Given the description of an element on the screen output the (x, y) to click on. 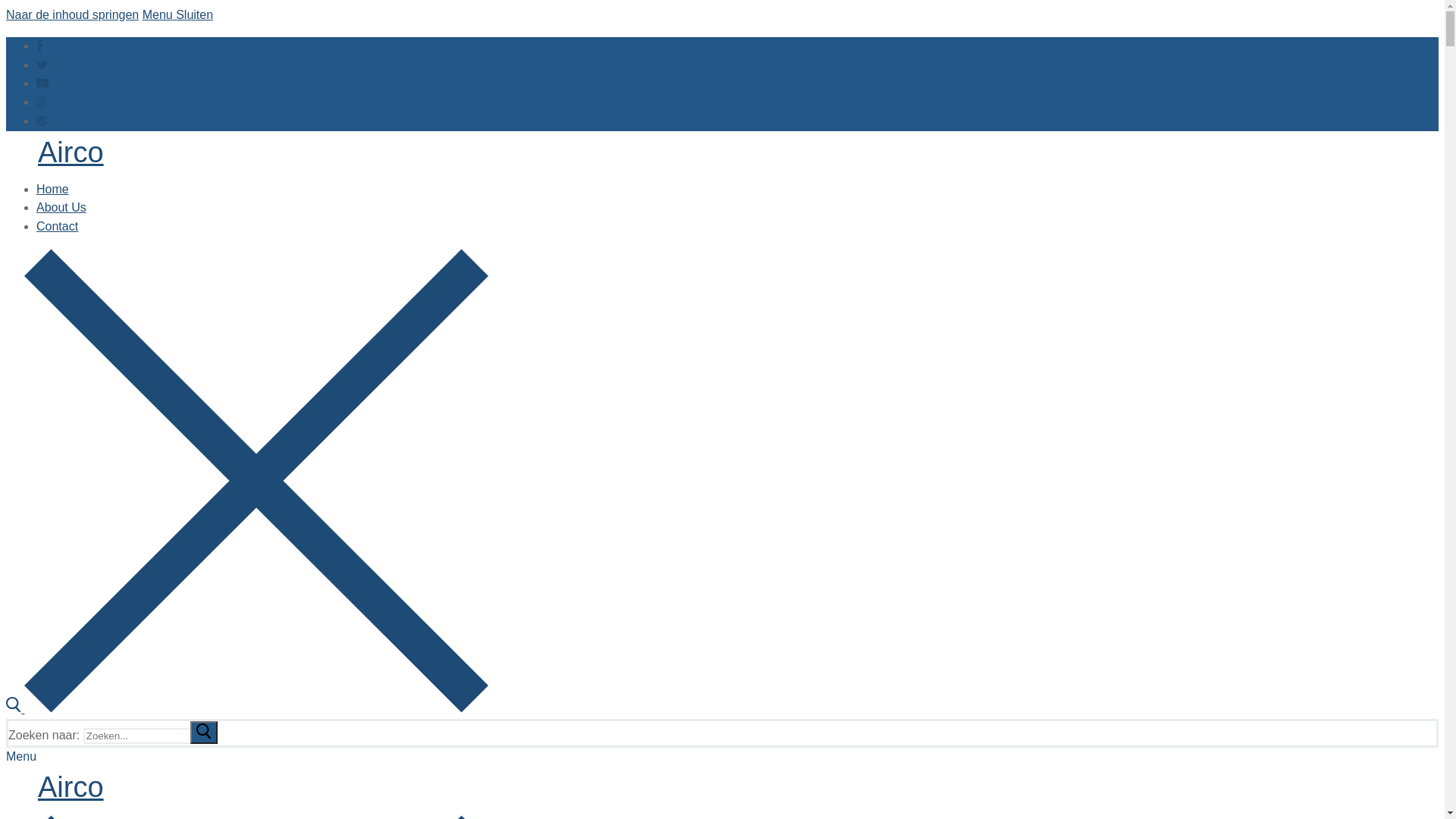
About Us Element type: text (61, 206)
Home Element type: text (52, 188)
Pinterest Element type: hover (41, 120)
Menu Sluiten Element type: text (177, 14)
Zoeken naar: Element type: hover (150, 735)
Contact Element type: text (57, 225)
Airco Element type: text (70, 152)
Menu Element type: text (21, 755)
Facebook Element type: hover (39, 45)
Naar de inhoud springen Element type: text (72, 14)
Instagram Element type: hover (41, 101)
Airco Element type: text (70, 787)
Twitter Element type: hover (41, 64)
Youtube Element type: hover (42, 82)
